Given the description of an element on the screen output the (x, y) to click on. 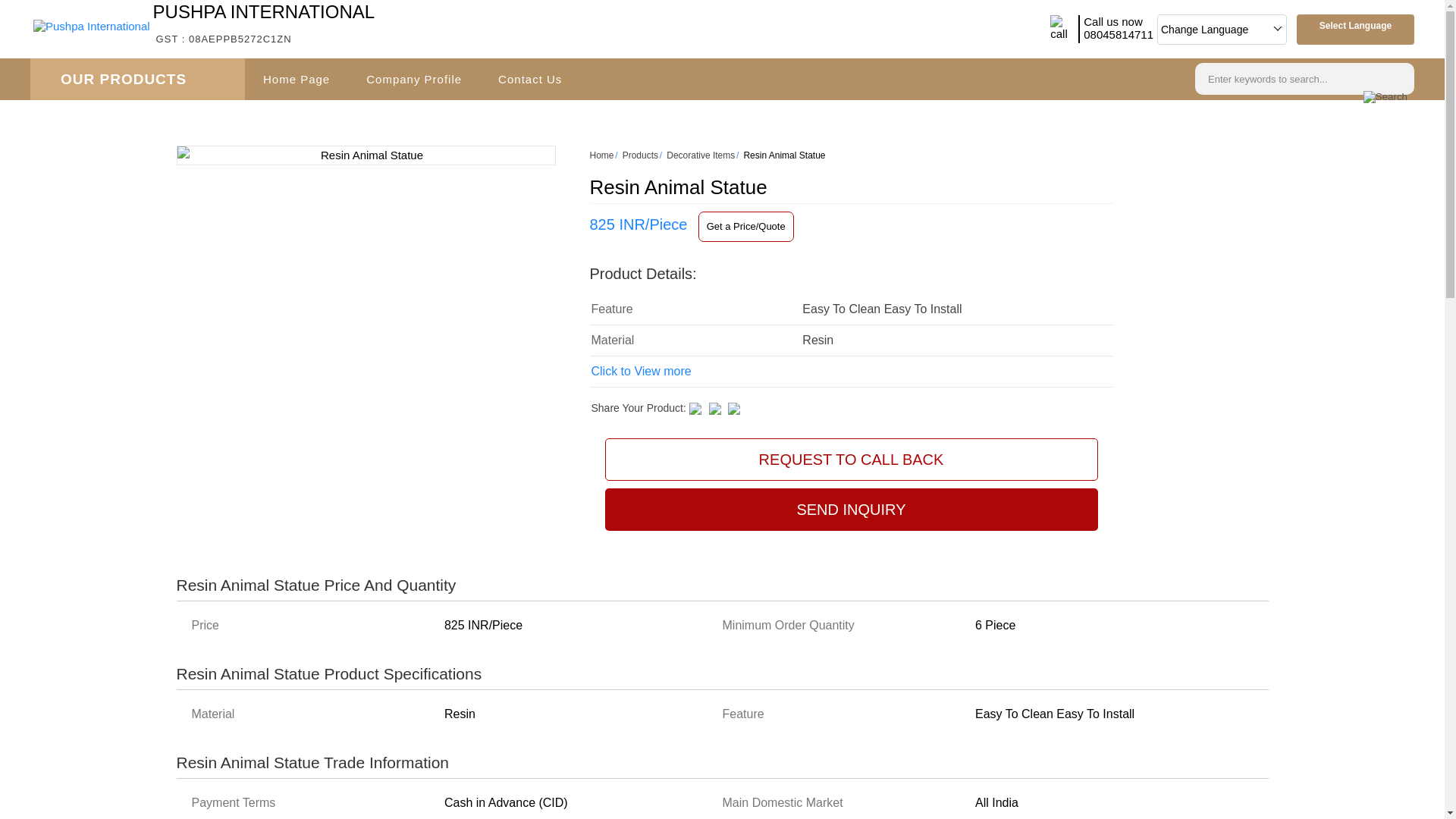
submit (1384, 96)
submit (1384, 96)
Select Language (1355, 24)
OUR PRODUCTS (137, 78)
Enter keywords to search... (263, 23)
